Given the description of an element on the screen output the (x, y) to click on. 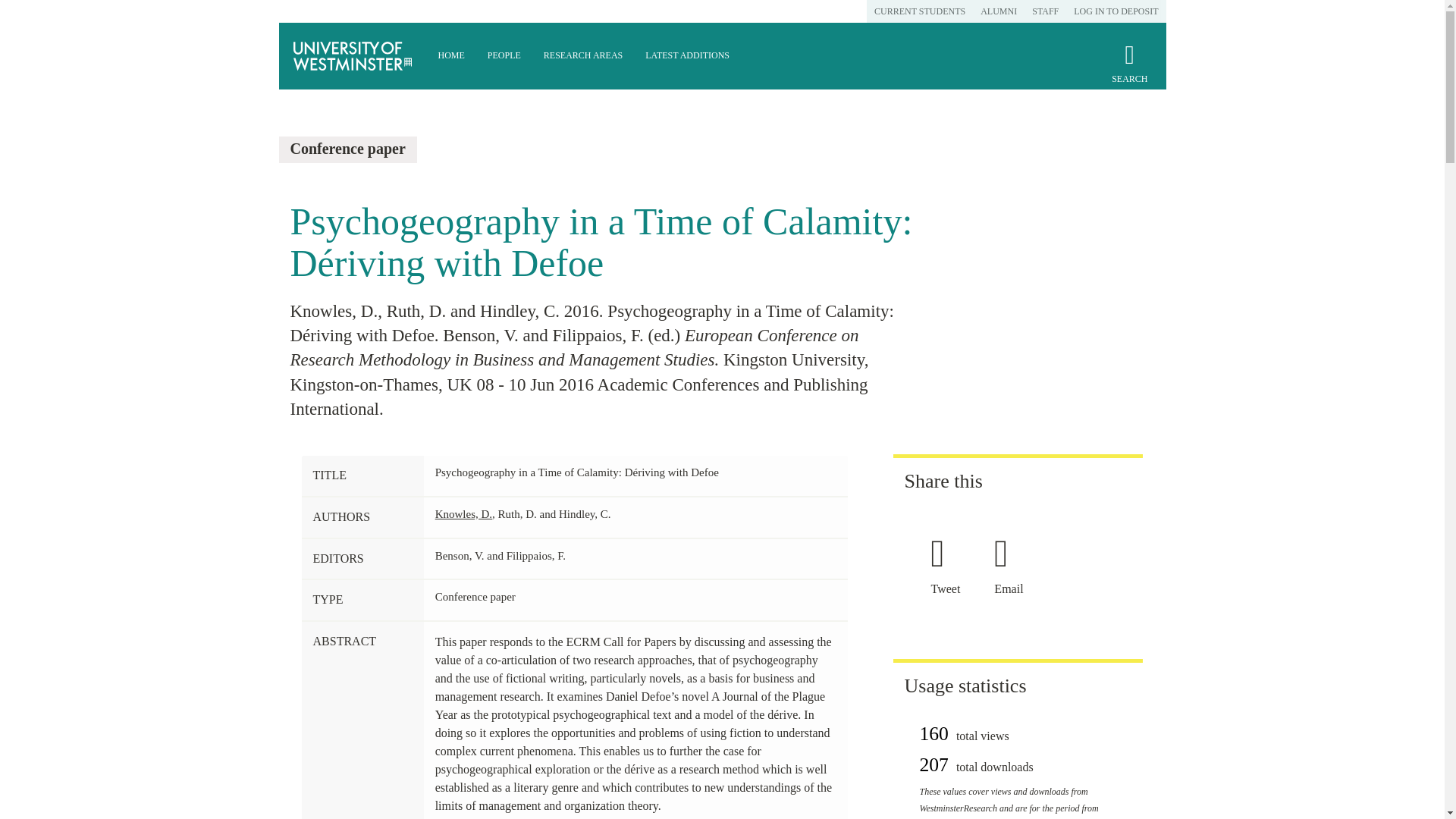
LOG IN TO DEPOSIT (1115, 11)
LATEST ADDITIONS (687, 55)
STAFF (1045, 11)
SEARCH (1129, 69)
Knowles, D. (463, 513)
University of Westminster (352, 55)
HOME (451, 55)
CURRENT STUDENTS (919, 11)
PEOPLE (504, 55)
ALUMNI (998, 11)
RESEARCH AREAS (582, 55)
